Given the description of an element on the screen output the (x, y) to click on. 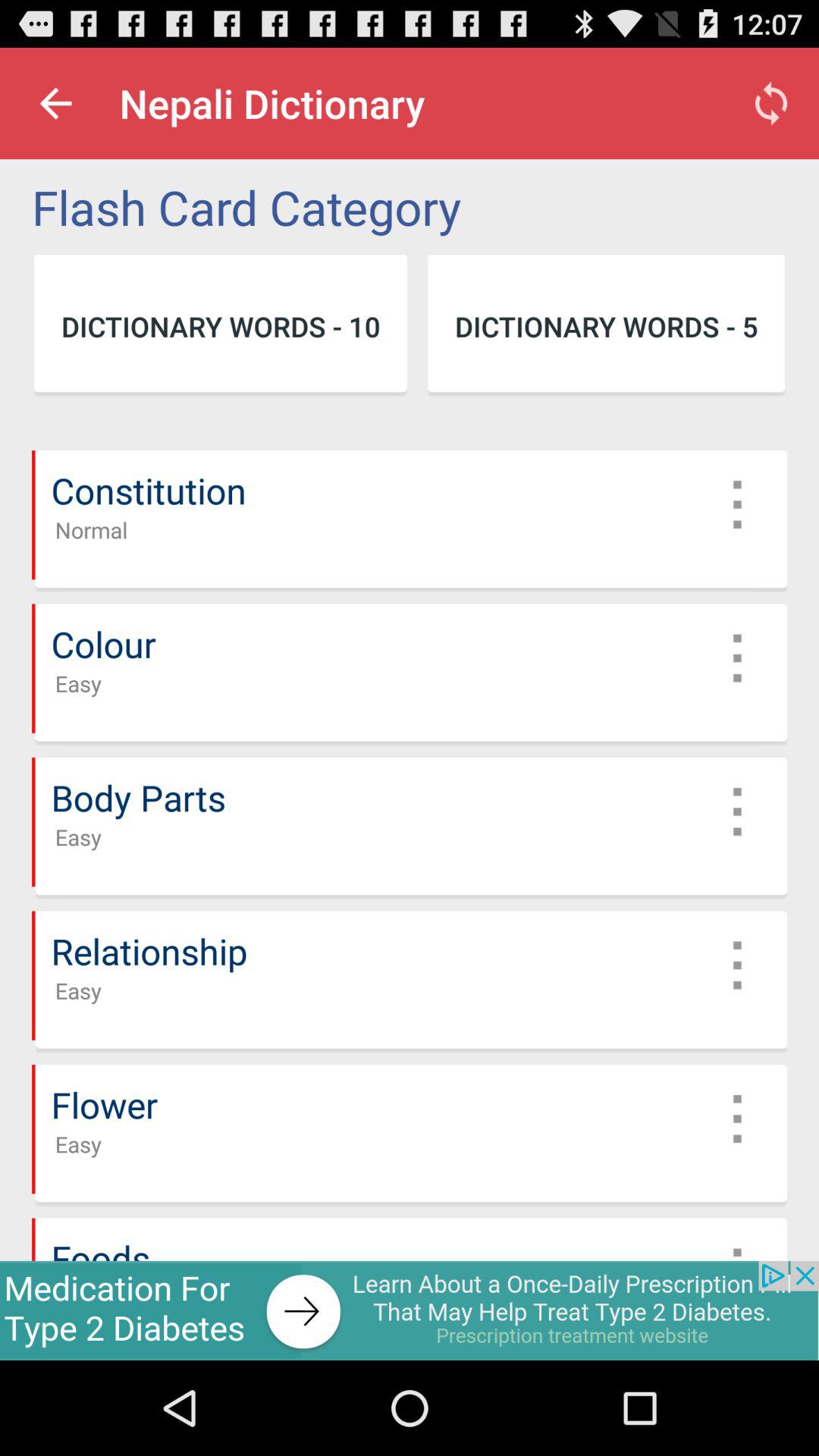
click on refresh button on top right of page (771, 103)
